Given the description of an element on the screen output the (x, y) to click on. 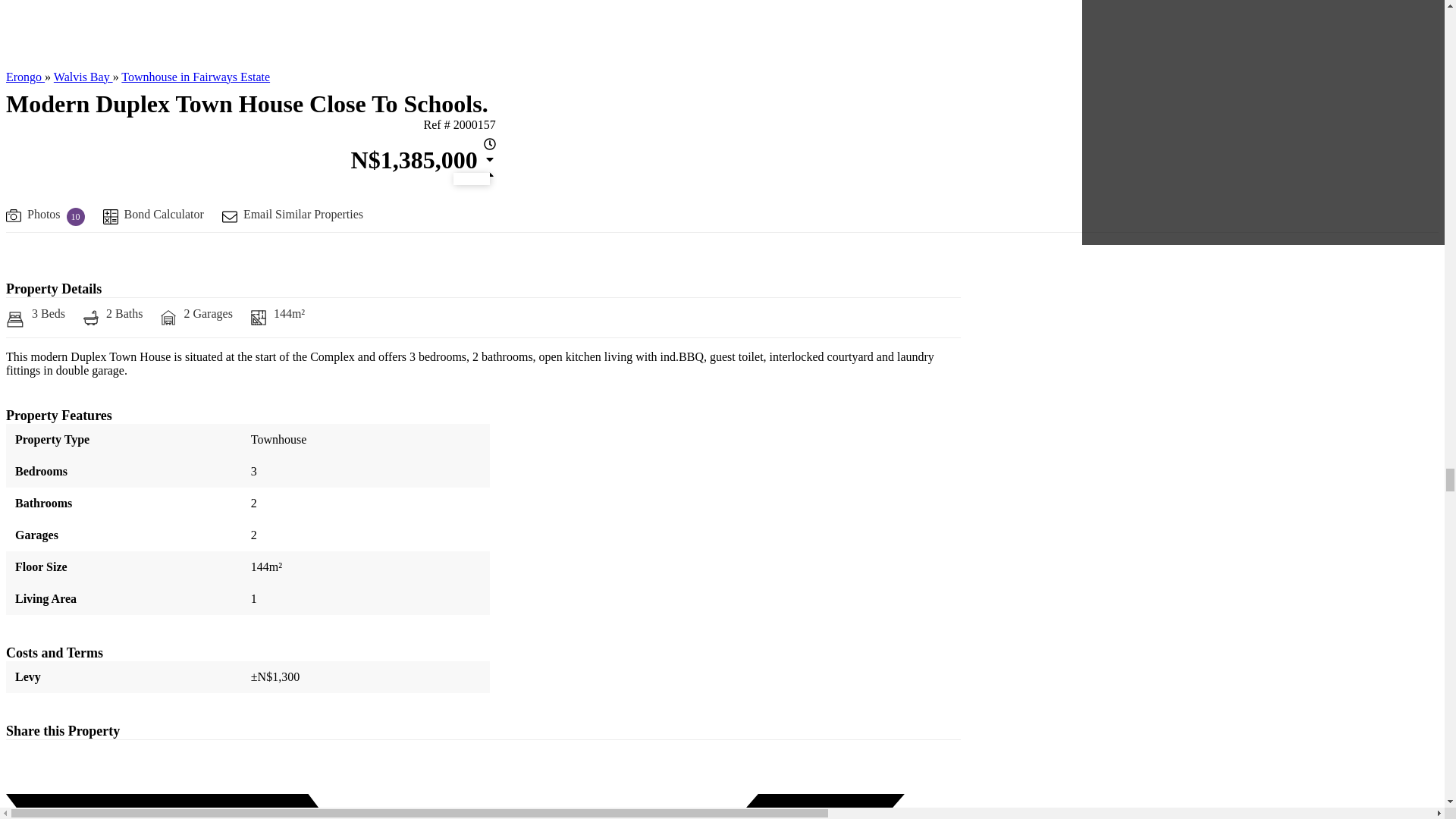
Erongo (25, 76)
Bond Calculator (153, 217)
Townhouse in Fairways Estate (194, 76)
Walvis Bay (83, 76)
Email Similar Properties (292, 217)
Currency converter (423, 160)
